Given the description of an element on the screen output the (x, y) to click on. 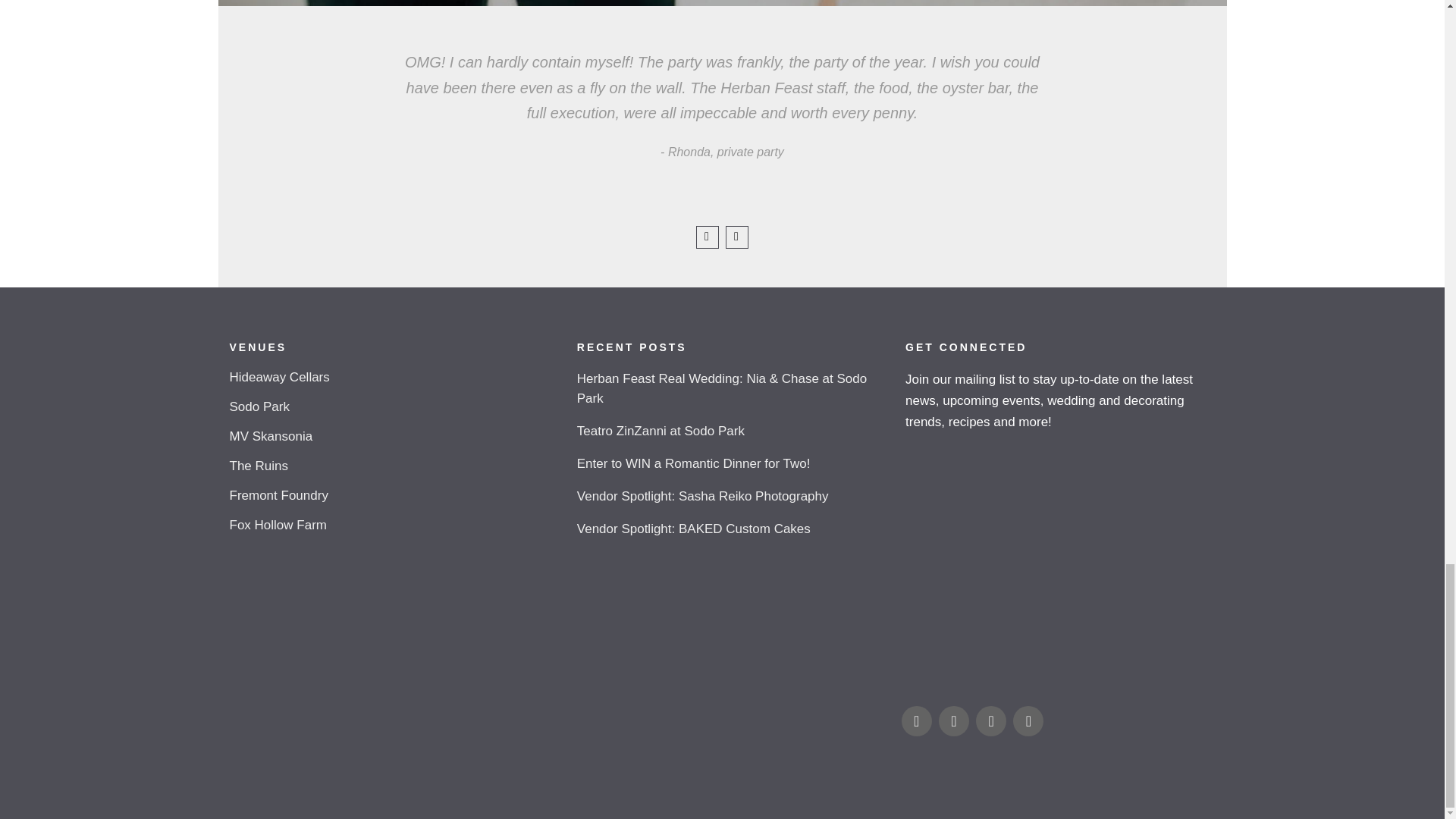
The Ruins (387, 466)
Sodo Park (387, 406)
Form 0 (1056, 565)
MV Skansonia (387, 436)
Teatro ZinZanni at Sodo Park (729, 431)
Vendor Spotlight: BAKED Custom Cakes (729, 528)
Fremont Foundry (387, 495)
Fox Hollow Farm (387, 524)
Vendor Spotlight: Sasha Reiko Photography (729, 496)
Enter to WIN a Romantic Dinner for Two! (729, 464)
Hideaway Cellars (387, 377)
Next (736, 237)
Previous (707, 237)
